Given the description of an element on the screen output the (x, y) to click on. 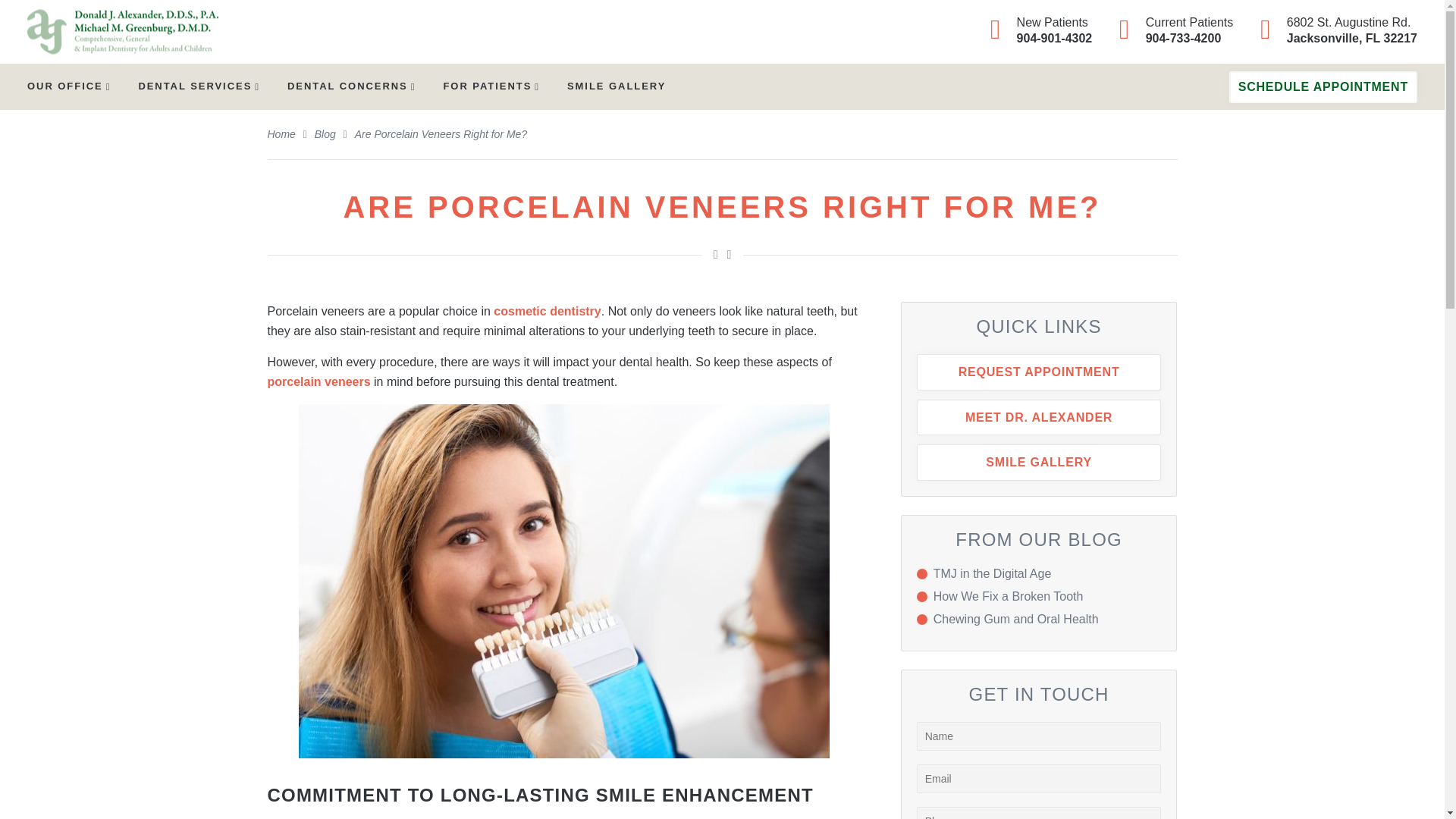
OUR OFFICE (1334, 29)
DENTAL CONCERNS (68, 85)
DENTAL SERVICES (350, 85)
